Given the description of an element on the screen output the (x, y) to click on. 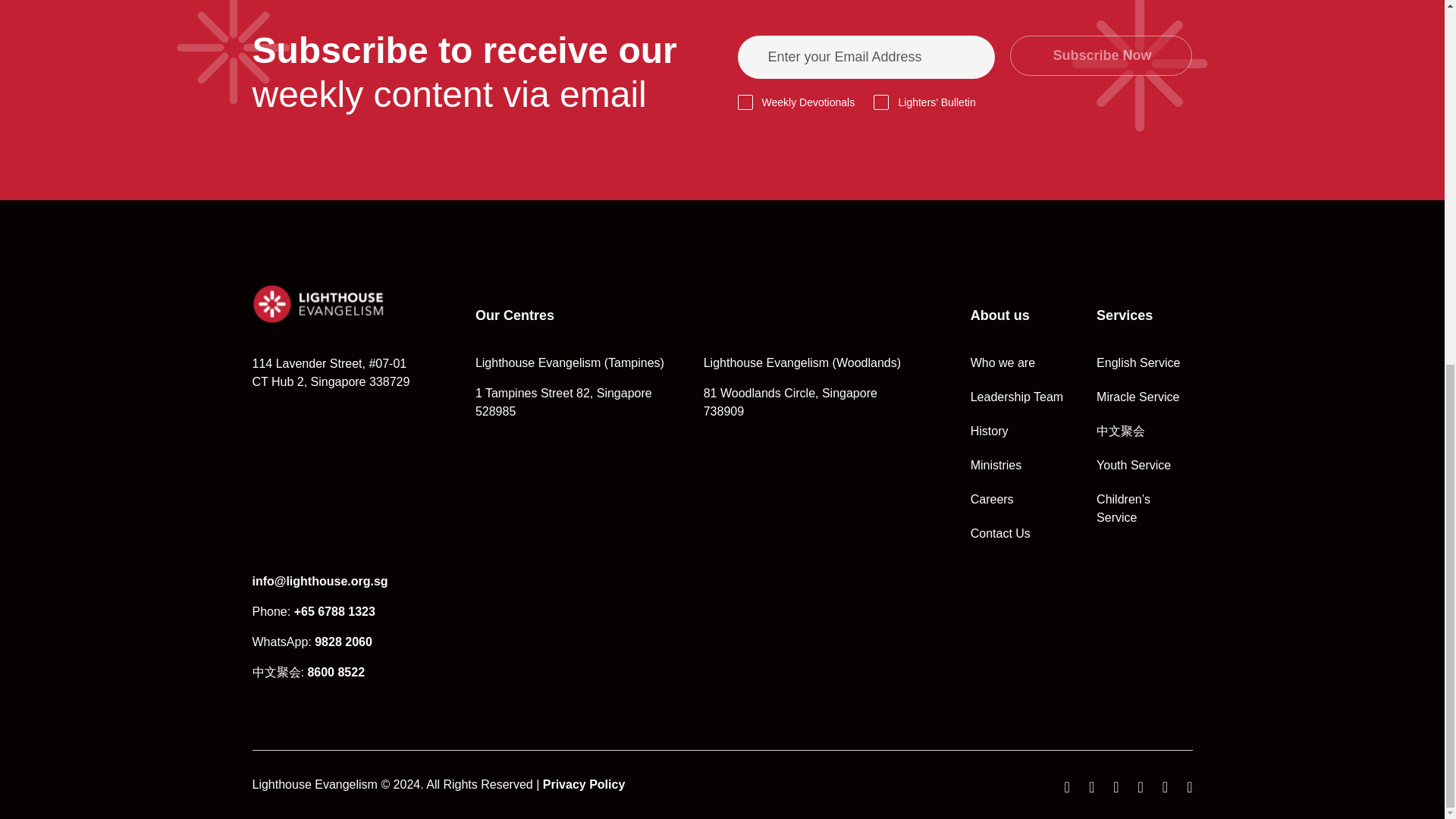
1 (880, 102)
Subscribe Now (1101, 56)
1 (744, 102)
Logo (317, 302)
